Given the description of an element on the screen output the (x, y) to click on. 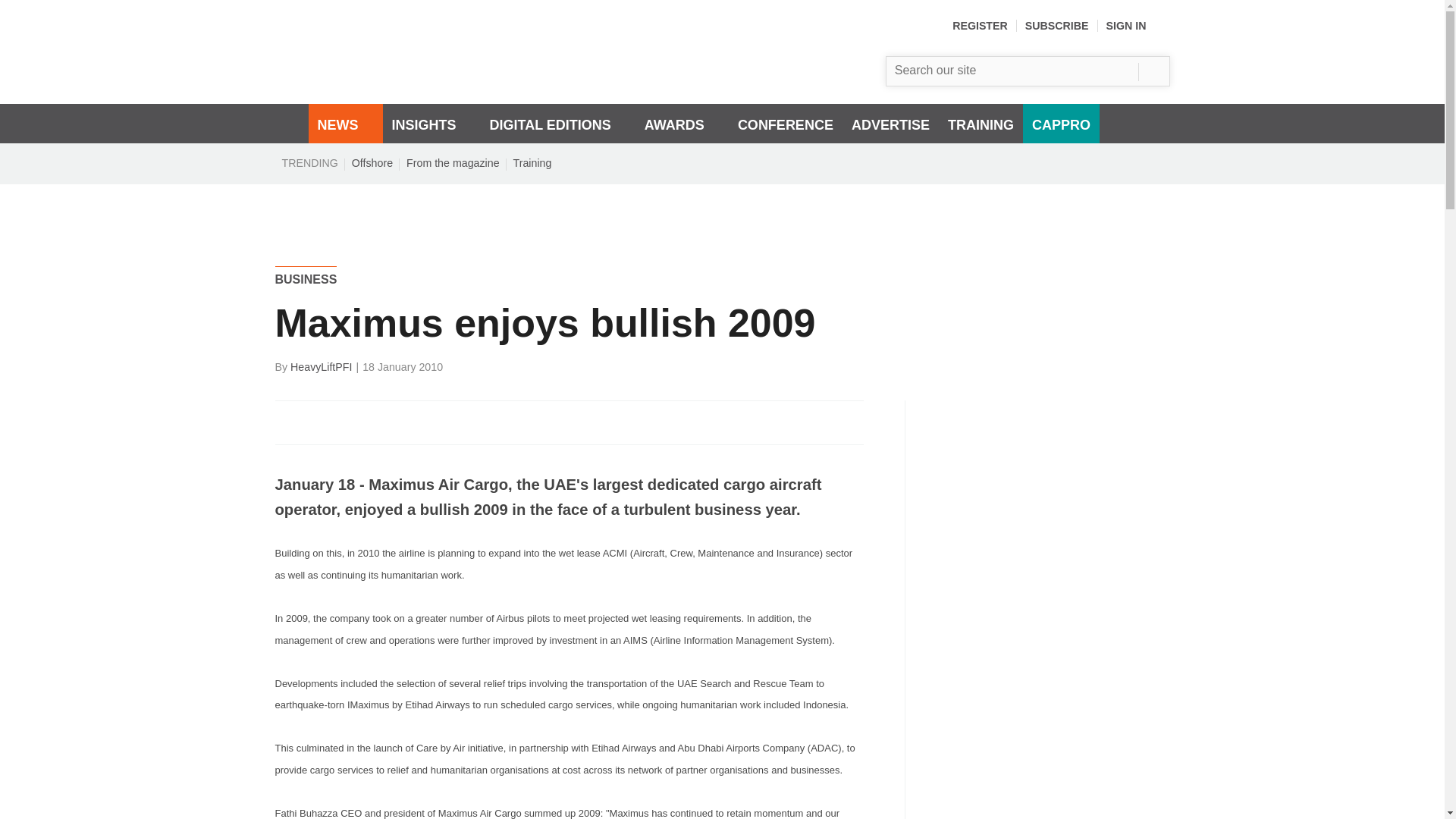
Share this on Facebook (288, 421)
Site name (457, 80)
Offshore (371, 162)
Training (532, 162)
REGISTER (979, 25)
Share this on Twitter (320, 421)
SEARCH (1153, 70)
Email this article (386, 421)
Share this on Linked in (352, 421)
SUBSCRIBE (1057, 25)
